Given the description of an element on the screen output the (x, y) to click on. 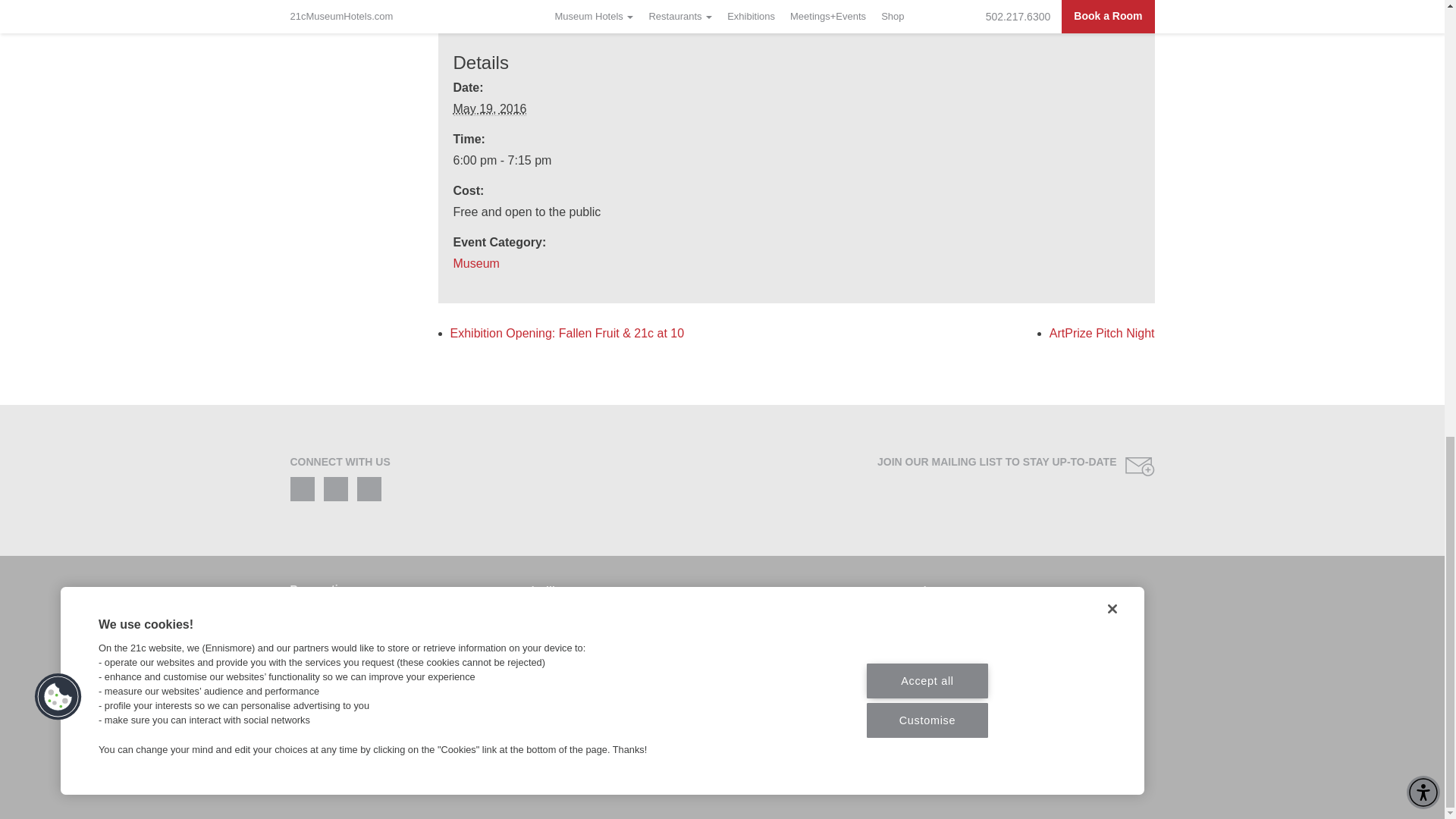
2016-05-19 (786, 160)
2016-05-19 (489, 109)
